Given the description of an element on the screen output the (x, y) to click on. 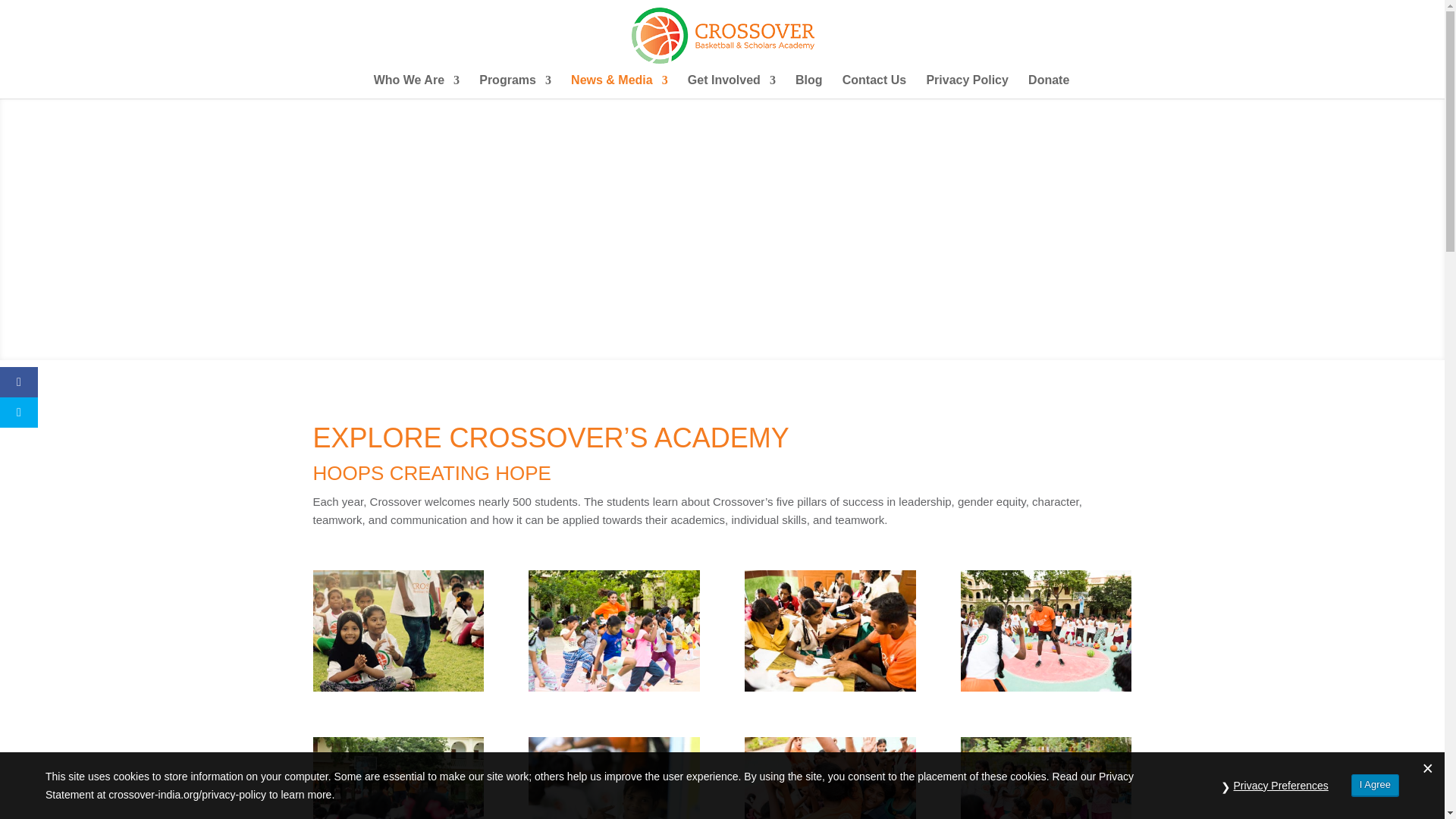
Privacy Policy (967, 86)
Contact Us (874, 86)
1 Crossover Basketball and Scholars Academy (398, 686)
3 Crossover Basketball and Scholars Academy (829, 686)
Donate (1047, 86)
Blog (808, 86)
Programs (515, 86)
Get Involved (731, 86)
Who We Are (417, 86)
